Given the description of an element on the screen output the (x, y) to click on. 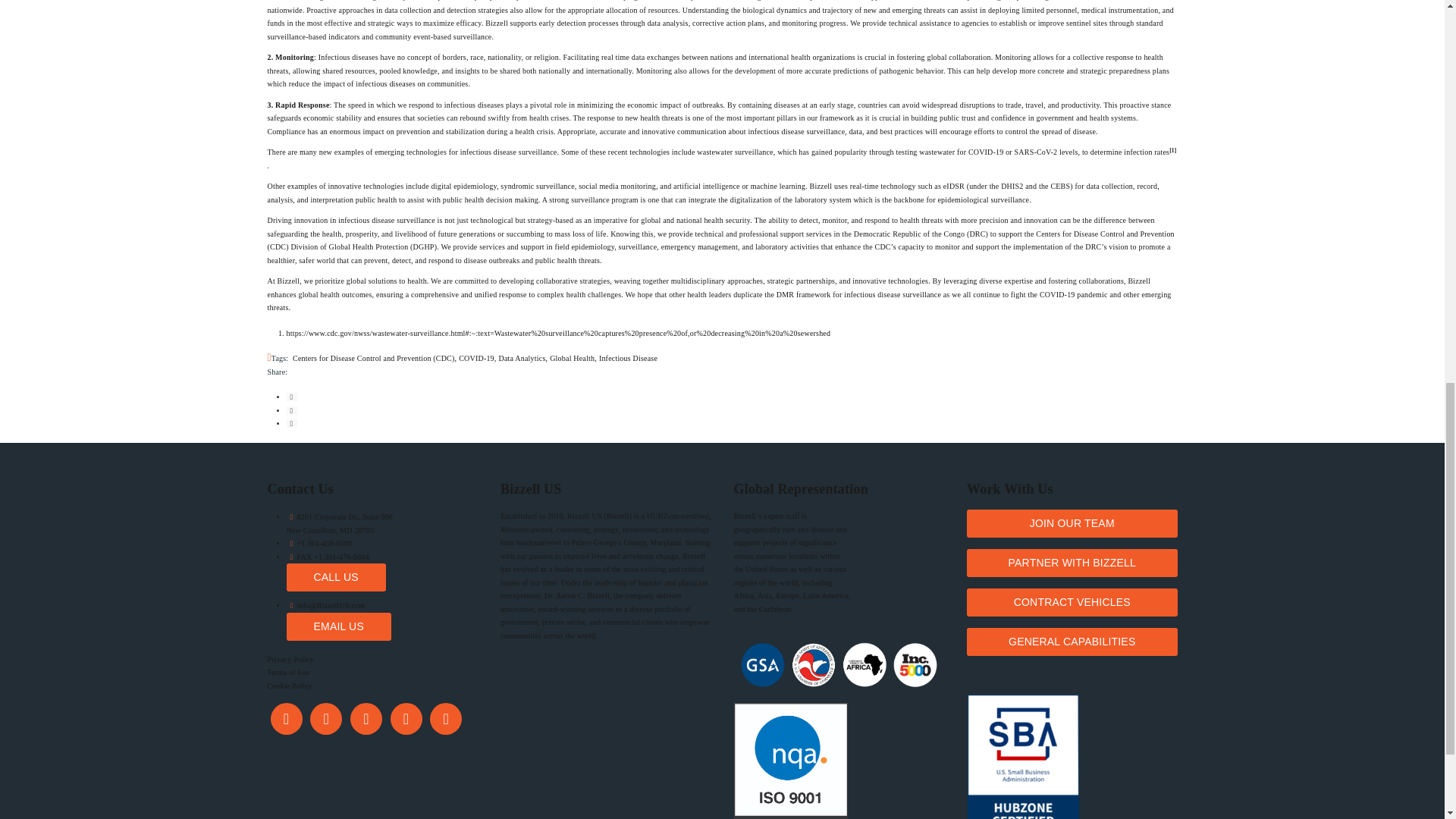
Instagram (365, 717)
Facebook (285, 717)
Default Label (406, 717)
Twitter (326, 717)
